Given the description of an element on the screen output the (x, y) to click on. 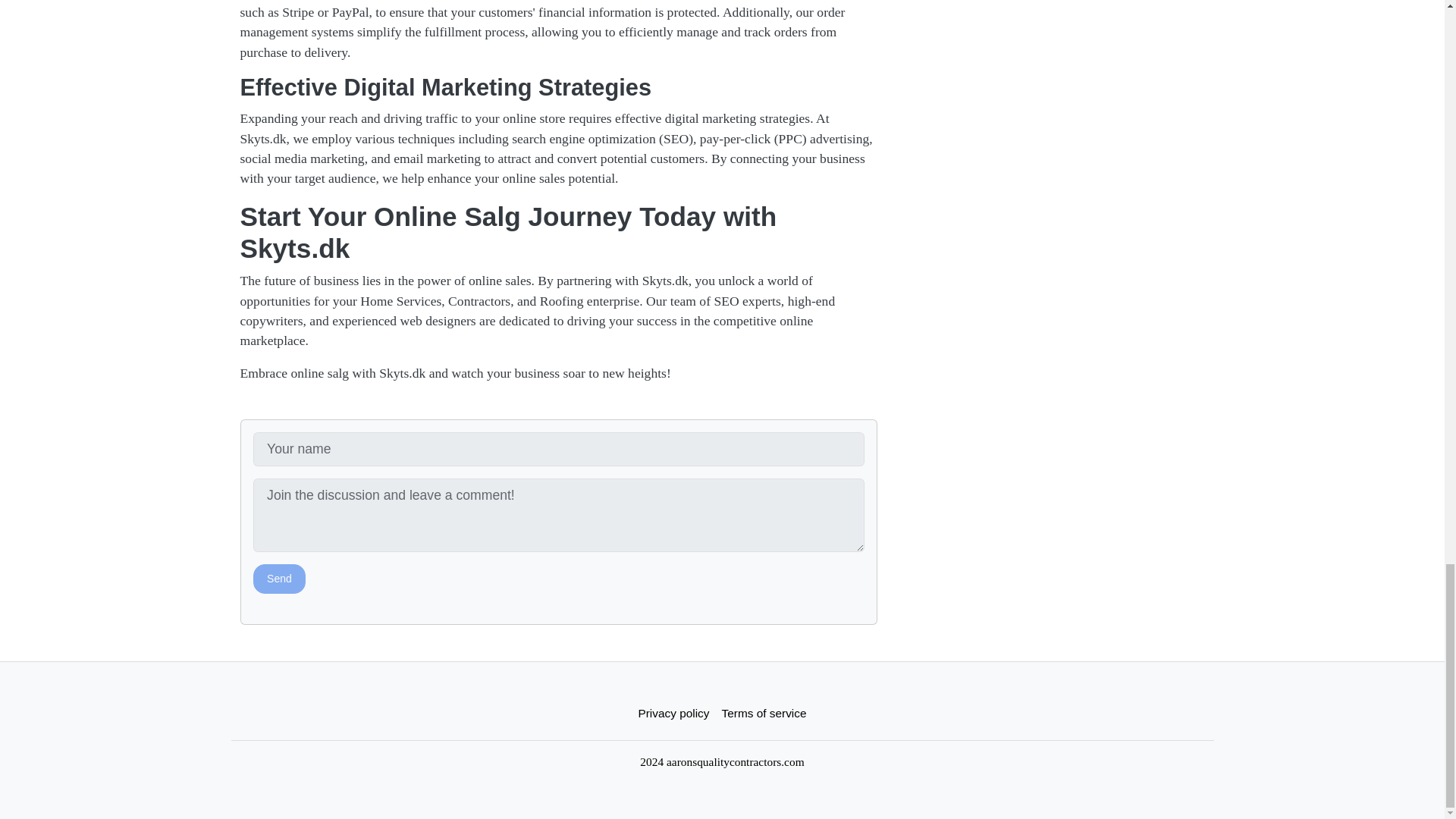
Send (279, 578)
Privacy policy (672, 713)
Terms of service (764, 713)
Send (279, 578)
